Given the description of an element on the screen output the (x, y) to click on. 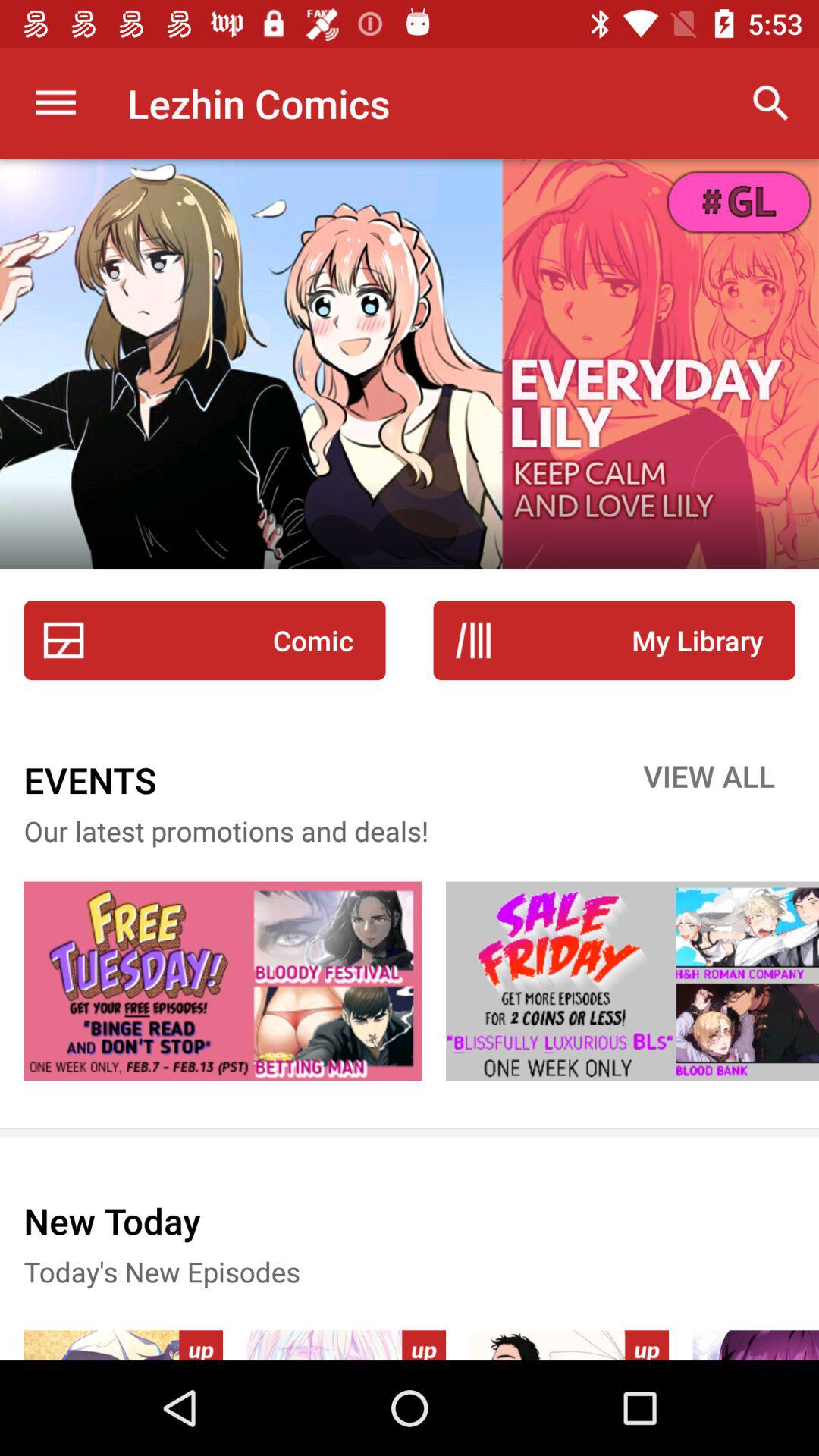
turn off the item below my library (709, 779)
